Given the description of an element on the screen output the (x, y) to click on. 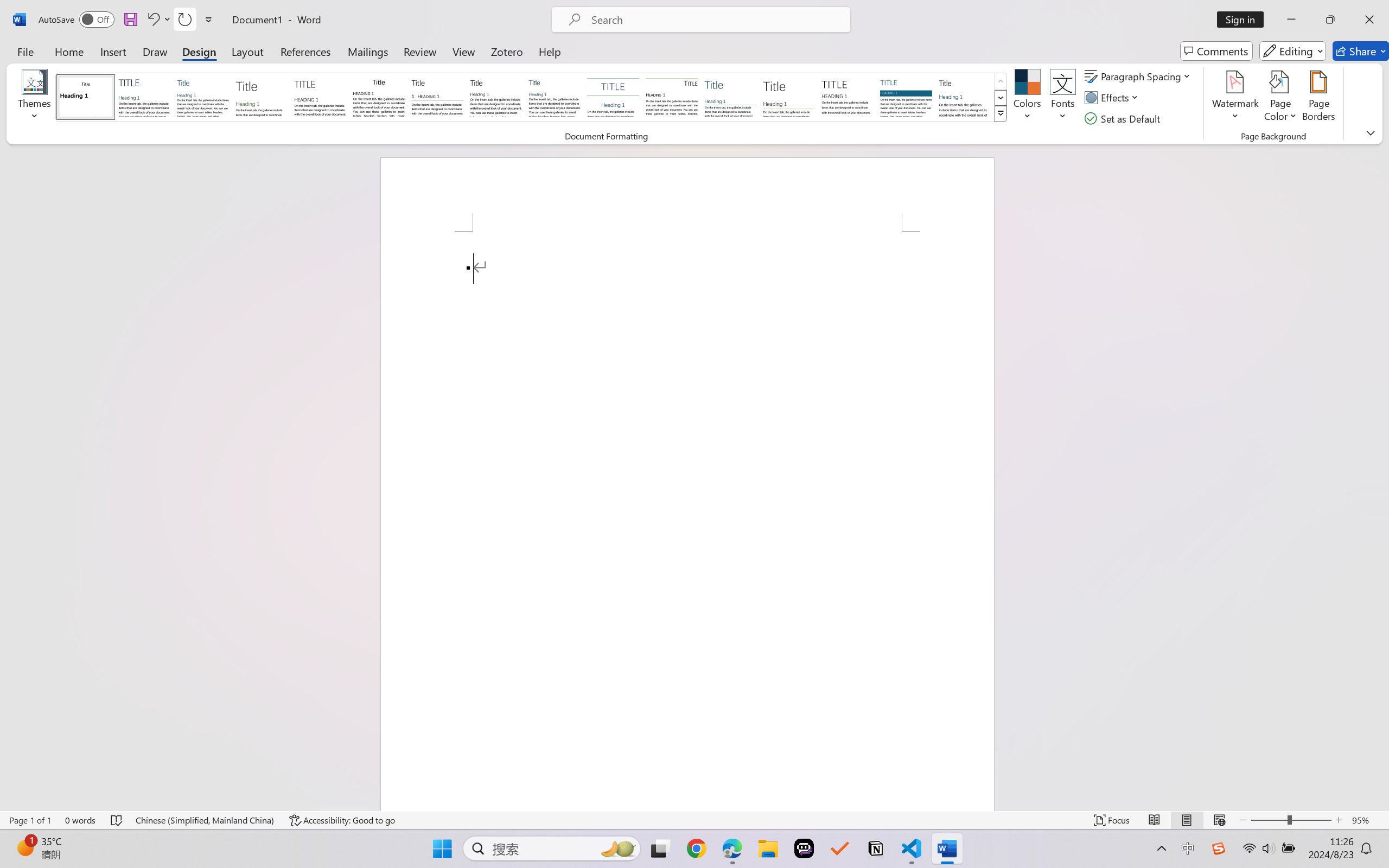
Basic (Stylish) (260, 96)
Sign in (1244, 19)
Page Color (1280, 97)
Black & White (Capitalized) (320, 96)
Paragraph Spacing (1139, 75)
Language Chinese (Simplified, Mainland China) (205, 819)
